Given the description of an element on the screen output the (x, y) to click on. 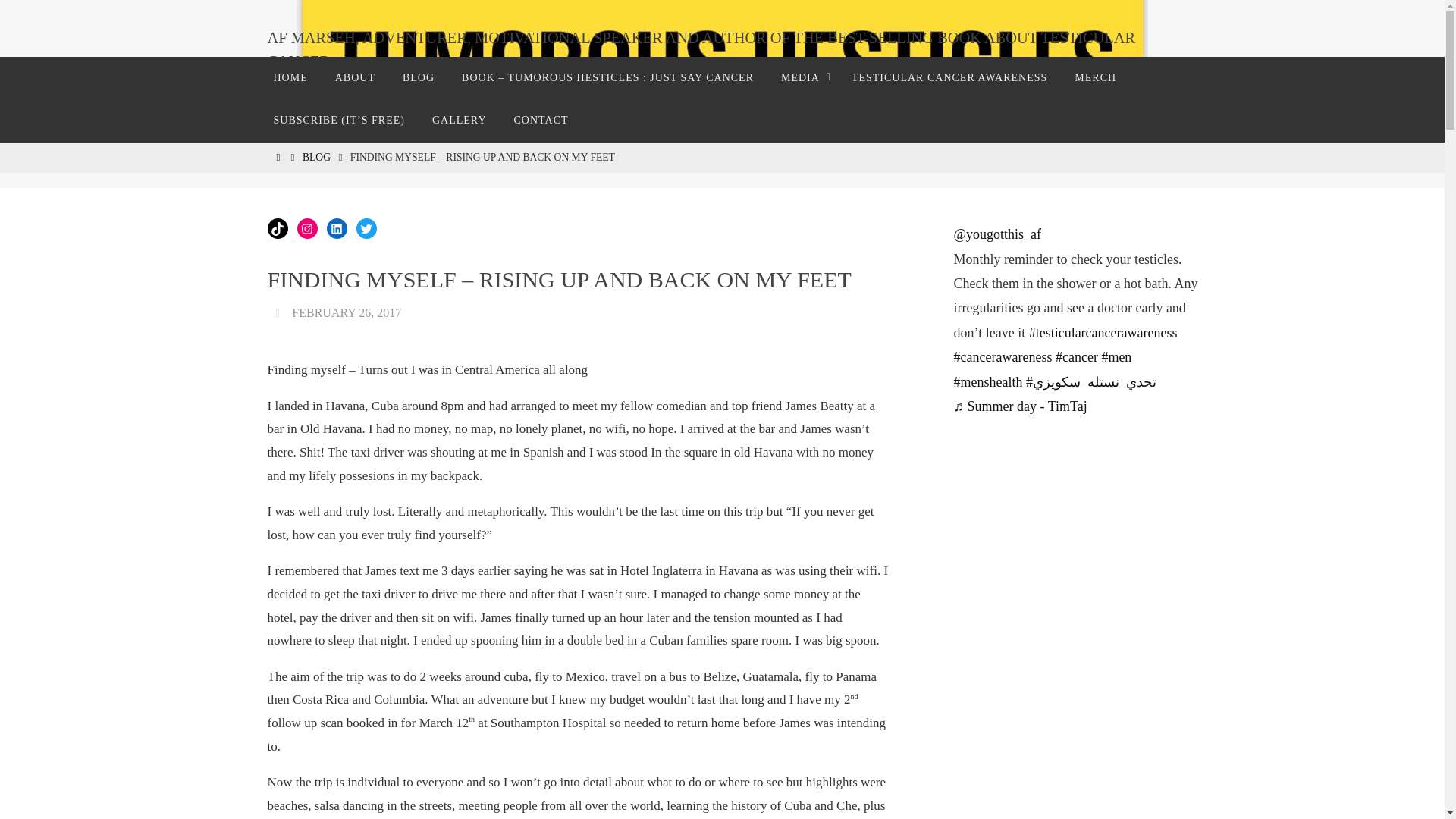
BLOG (418, 77)
HOME (277, 156)
Twitter (366, 228)
HOME (289, 77)
LinkedIn (336, 228)
Date (278, 312)
TikTok (276, 228)
BLOG (316, 156)
Instagram (307, 228)
ABOUT (354, 77)
